Given the description of an element on the screen output the (x, y) to click on. 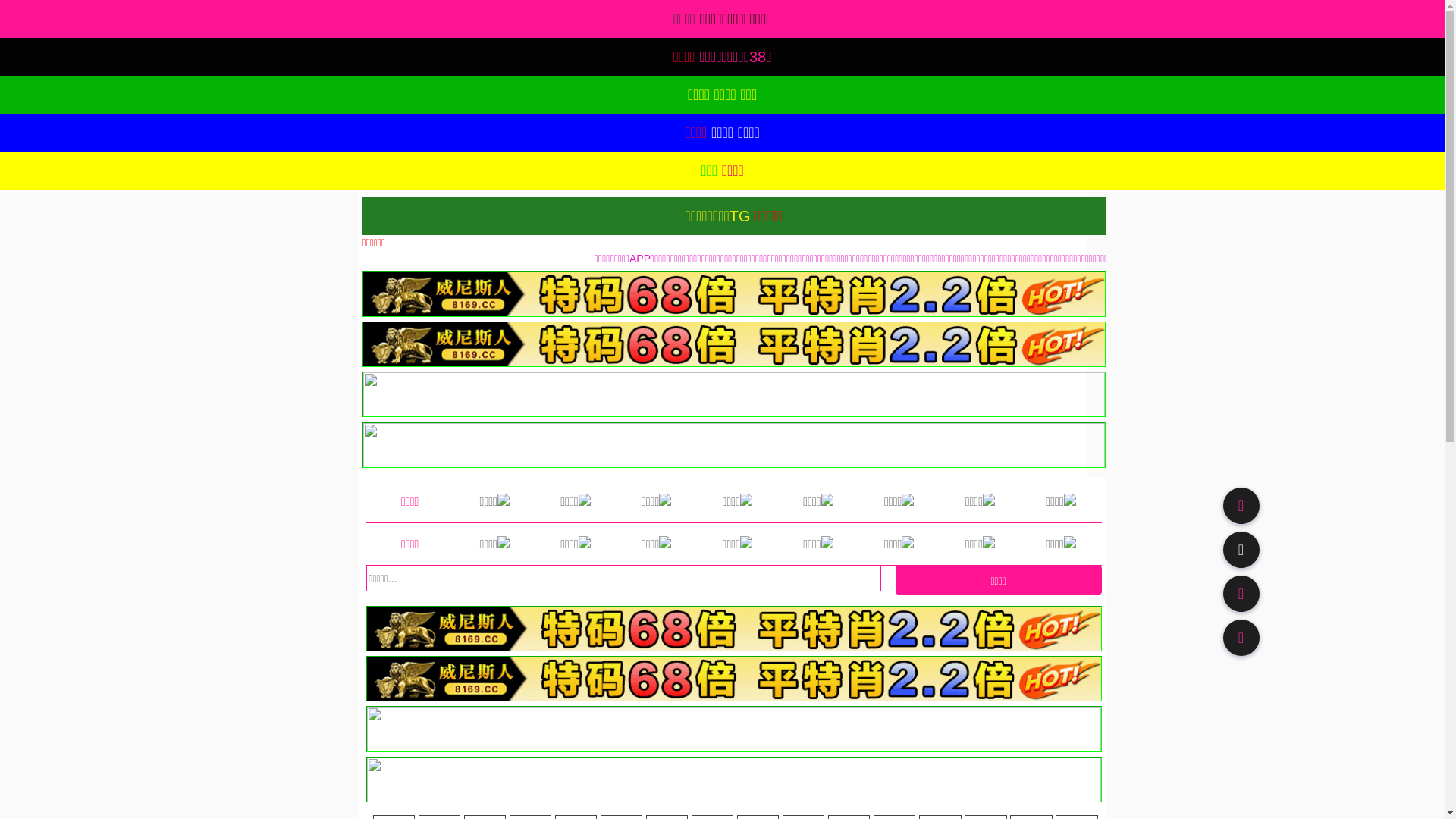
91TV Element type: hover (1240, 593)
